Given the description of an element on the screen output the (x, y) to click on. 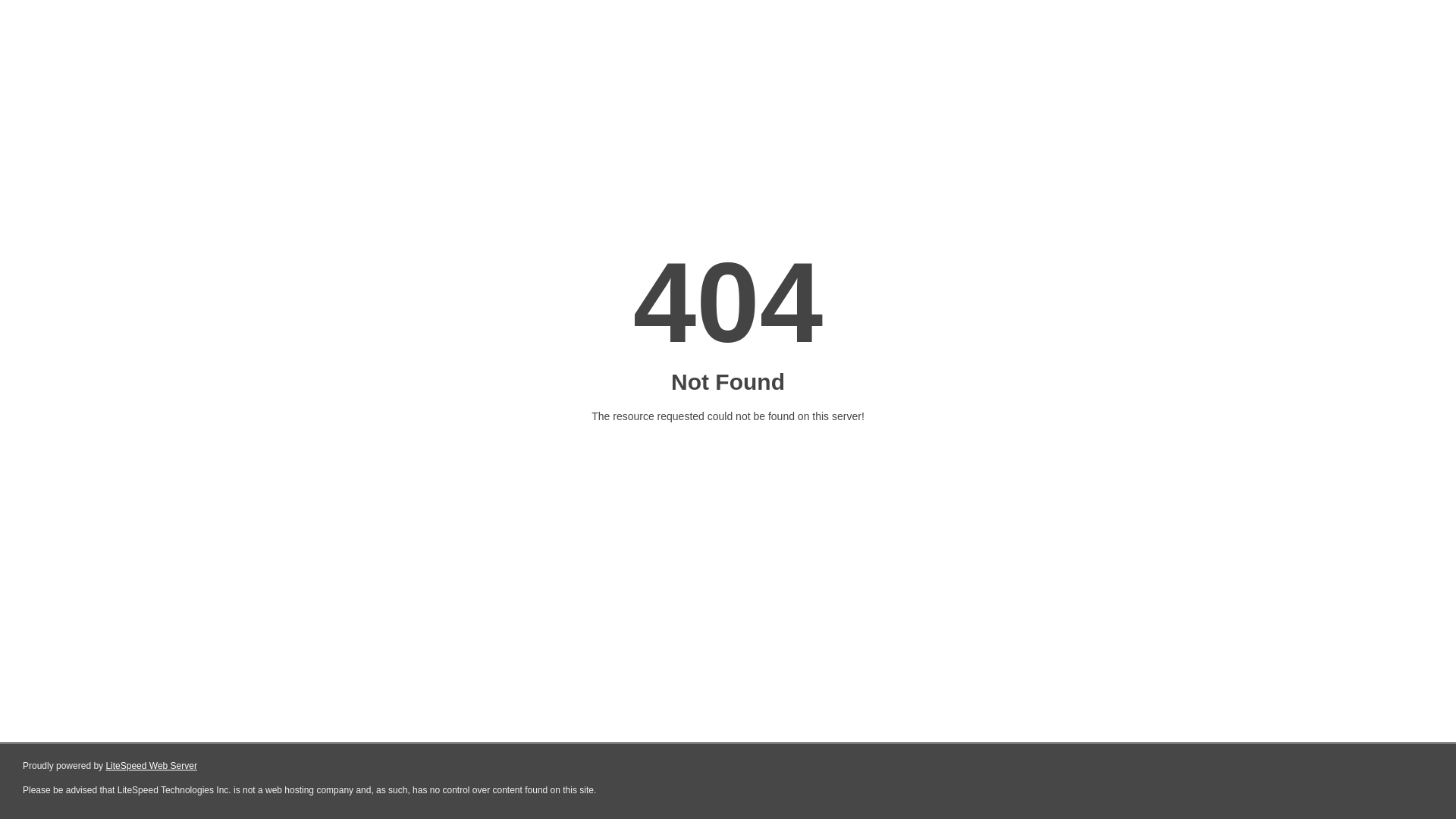
LiteSpeed Web Server Element type: text (151, 765)
